Given the description of an element on the screen output the (x, y) to click on. 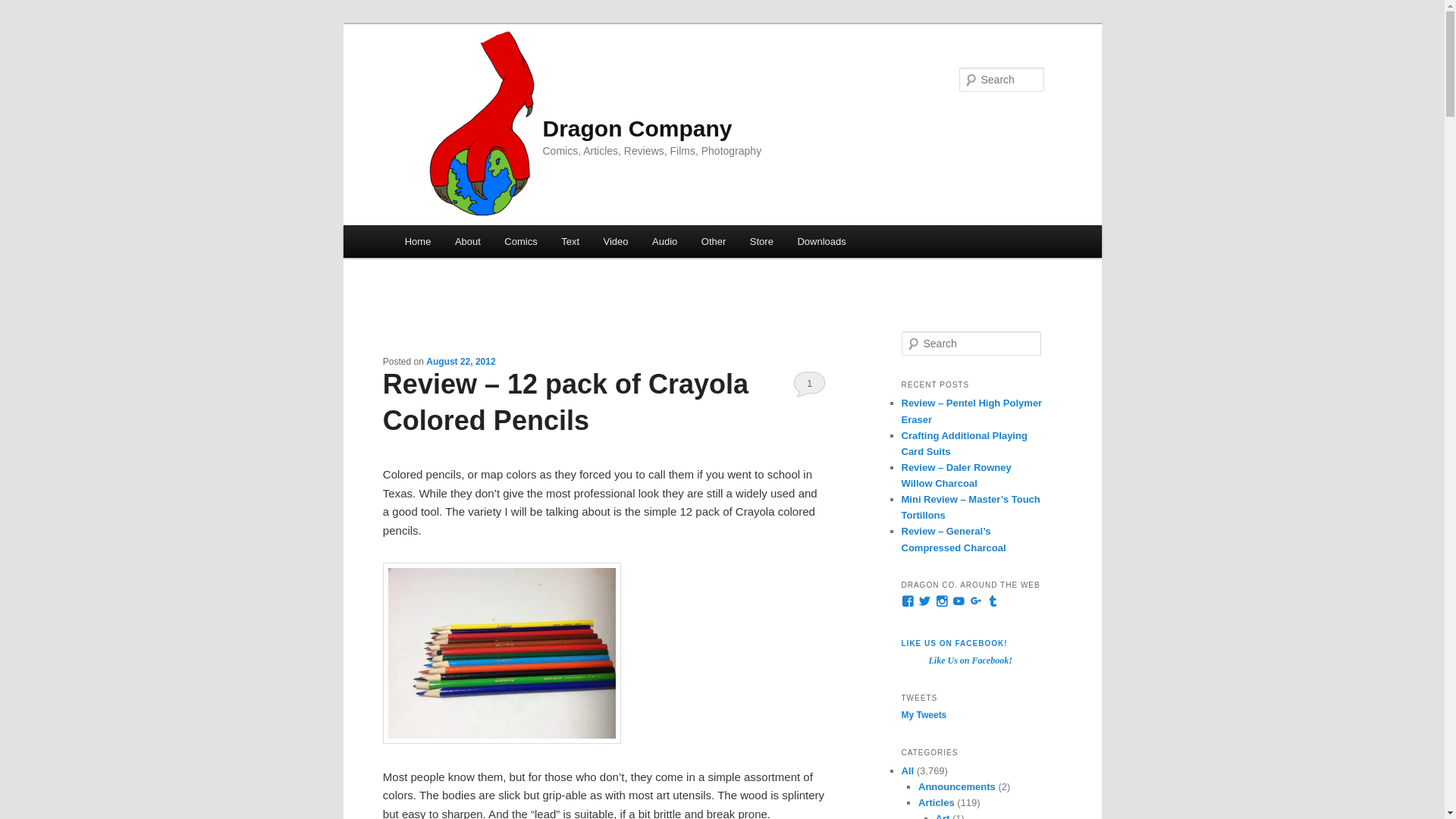
Text (569, 241)
Dragon Company (637, 128)
Dragon Company (637, 128)
Video (615, 241)
About (467, 241)
Search (24, 8)
Home (417, 241)
12:54 PM (460, 361)
Audio (664, 241)
Comics (521, 241)
Don't have a box, so here they all are. (501, 652)
